Given the description of an element on the screen output the (x, y) to click on. 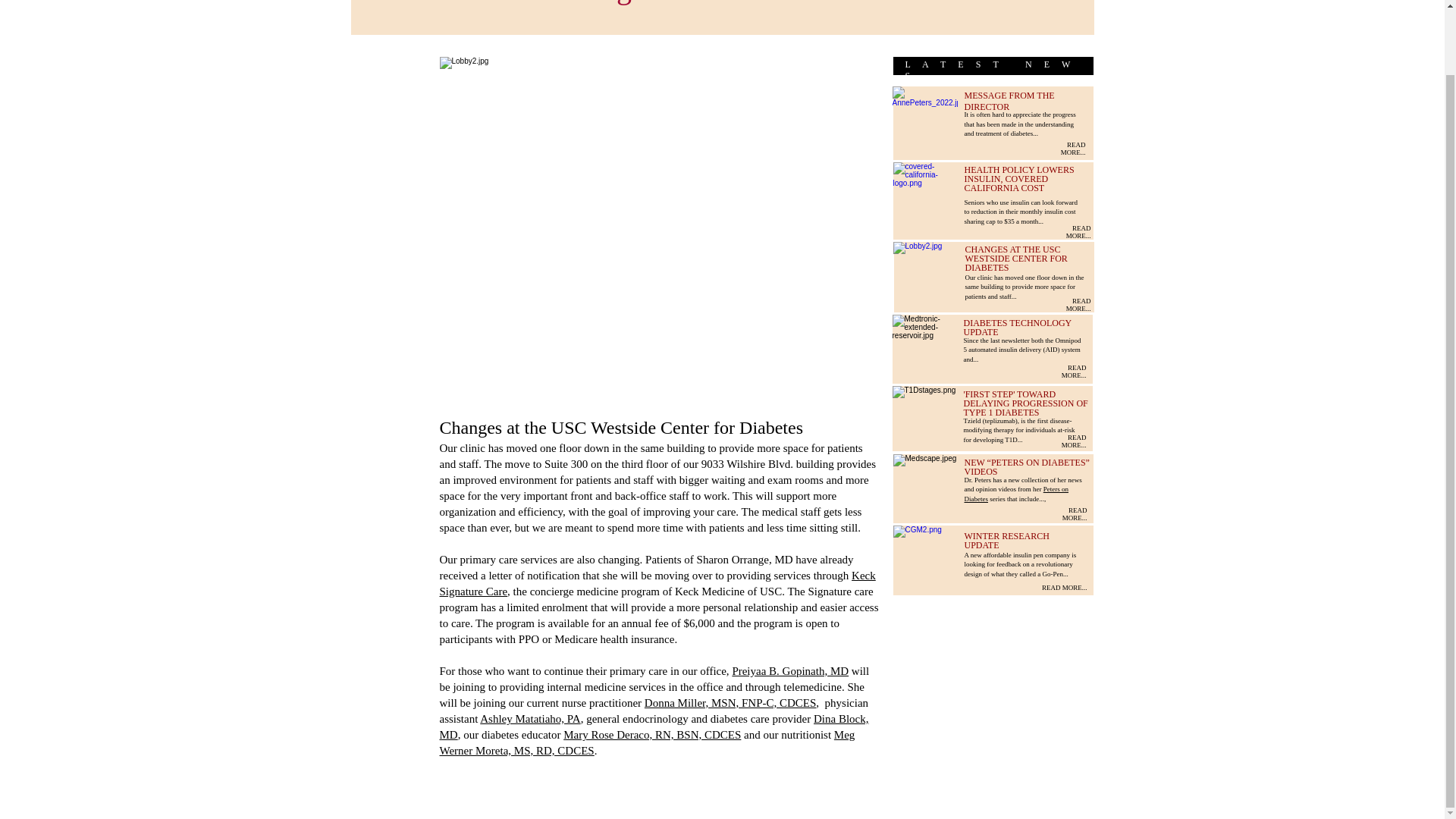
Ashley Matatiaho, PA (529, 718)
Donna Miller, MSN, FNP-C, CDCES (730, 702)
Keck Signature Care (657, 583)
Meg Werner Moreta, MS, RD, CDCES (647, 742)
Dina Block, MD (654, 726)
Preiyaa B. Gopinath, MD (790, 671)
Mary Rose Deraco, RN, BSN, CDCES (652, 734)
Peters on Diabetes (1015, 493)
